Given the description of an element on the screen output the (x, y) to click on. 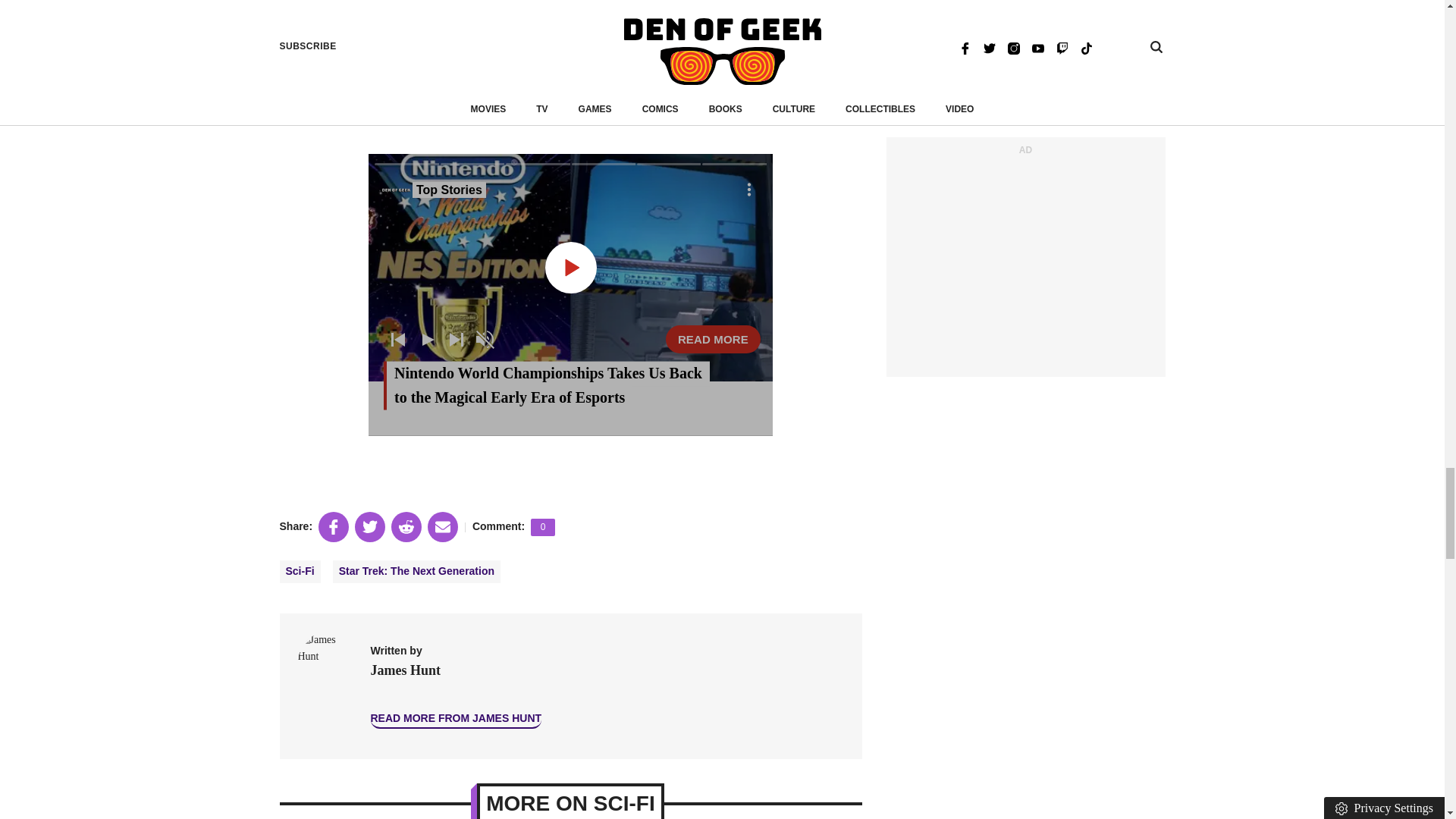
READ MORE (712, 338)
on Twitter right here (452, 94)
Facebook chum here (636, 94)
